Given the description of an element on the screen output the (x, y) to click on. 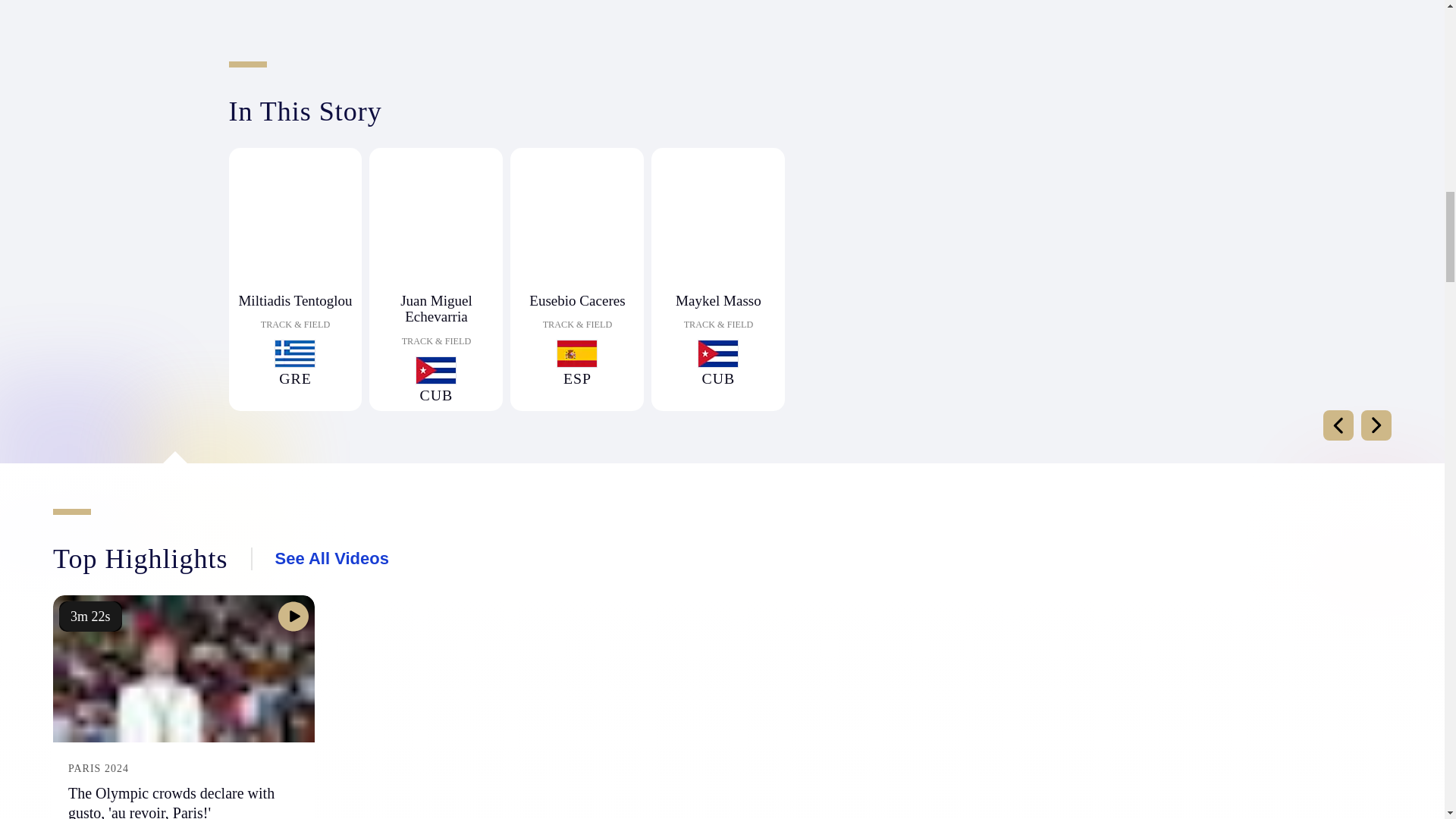
Juan Miguel Echevarria (435, 308)
Previous slider page (1338, 425)
Next slider page (1376, 425)
Eusebio Caceres (576, 300)
3m 22s (90, 616)
Maykel Masso (717, 300)
See All Videos (331, 558)
Miltiadis Tentoglou (294, 300)
